Given the description of an element on the screen output the (x, y) to click on. 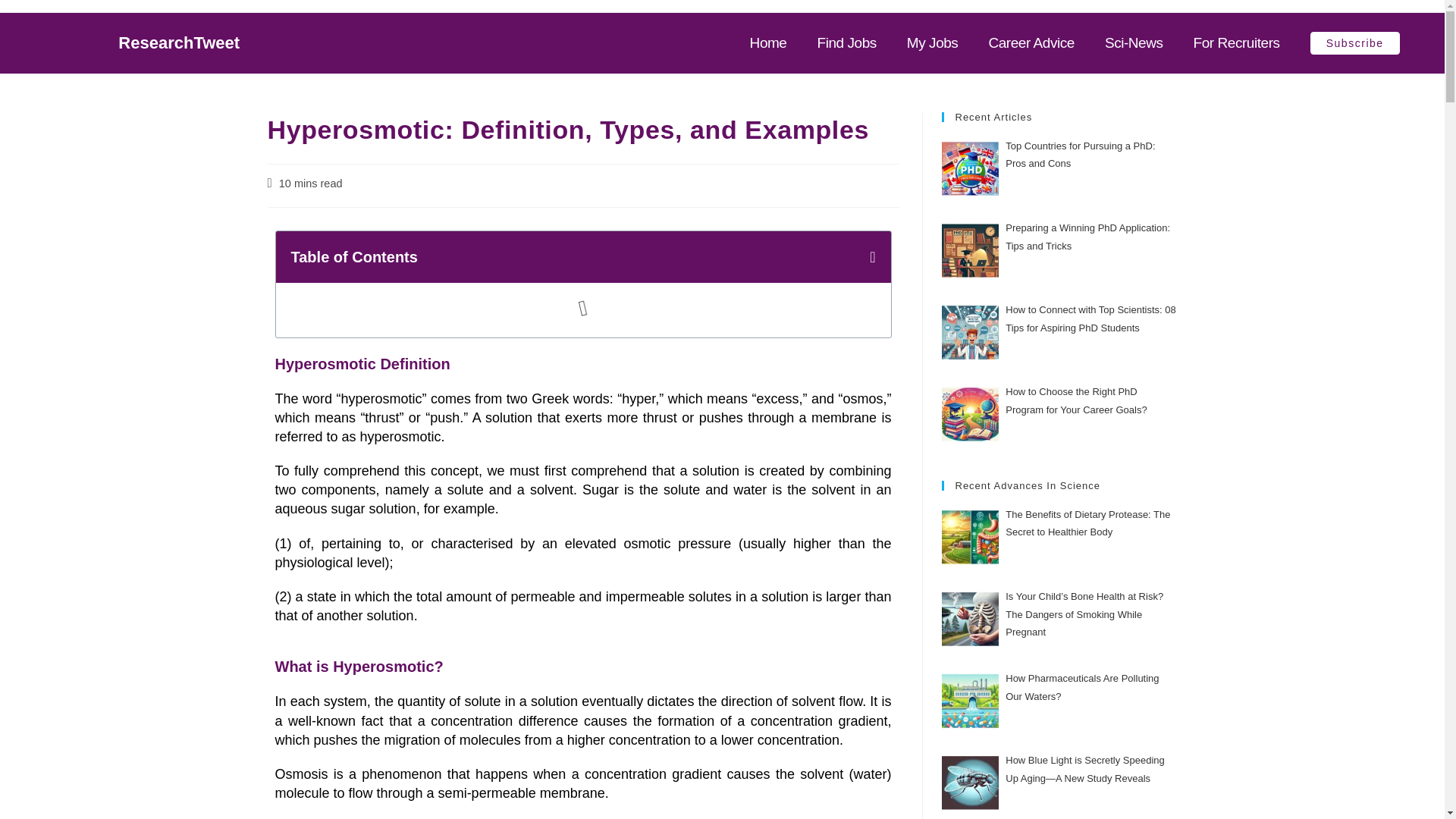
My Jobs (932, 43)
For Recruiters (1236, 43)
Subscribe (1354, 42)
Career Advice (1031, 43)
Home (768, 43)
Find Jobs (846, 43)
ResearchTweet (178, 42)
Sci-News (1134, 43)
